Given the description of an element on the screen output the (x, y) to click on. 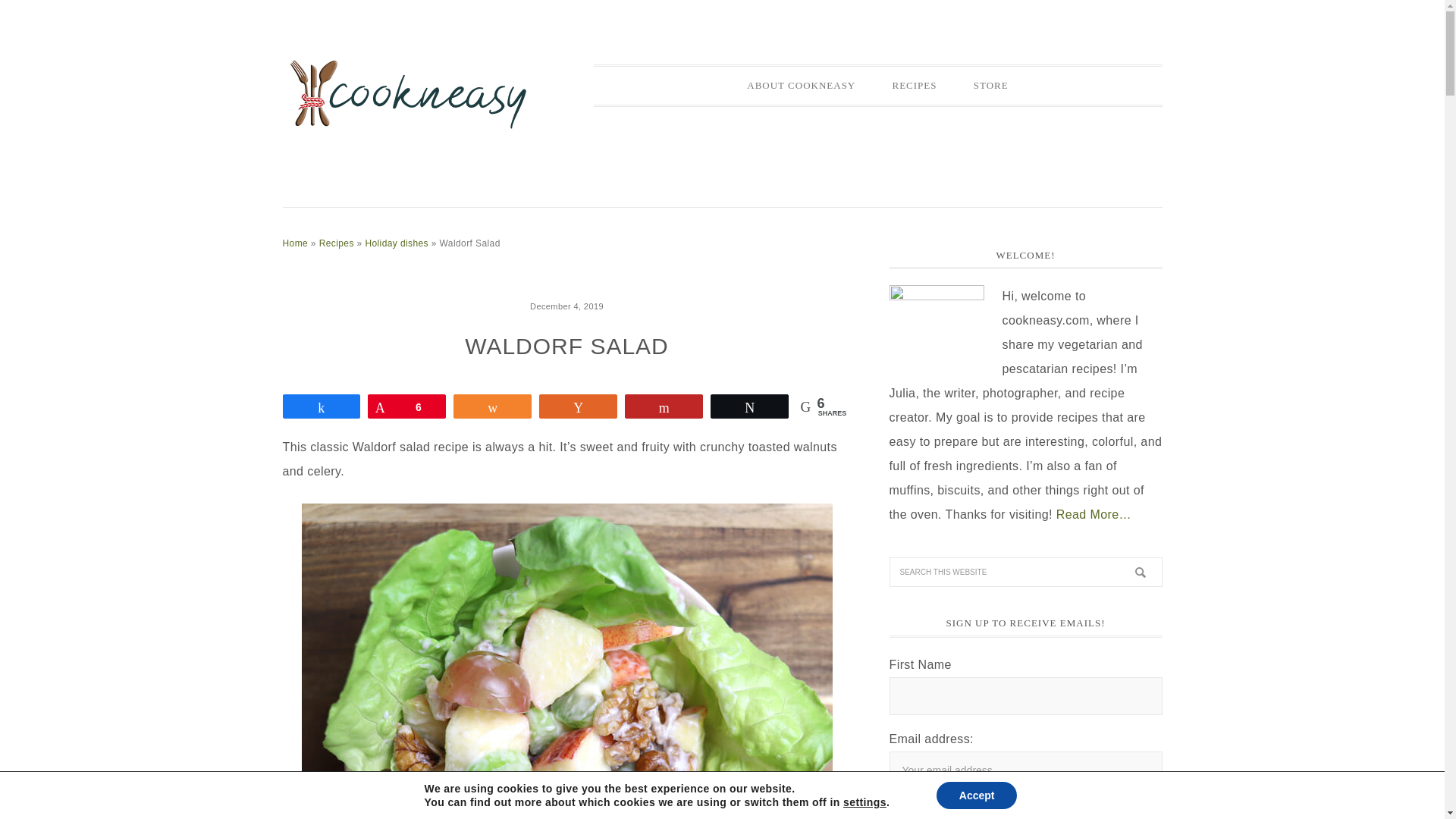
Holiday dishes (396, 243)
Submit (920, 809)
6 (406, 405)
STORE (990, 85)
RECIPES (914, 85)
ABOUT COOKNEASY (801, 85)
Home (294, 243)
Submit (920, 809)
COOKNEASY (407, 92)
Recipes (335, 243)
